Given the description of an element on the screen output the (x, y) to click on. 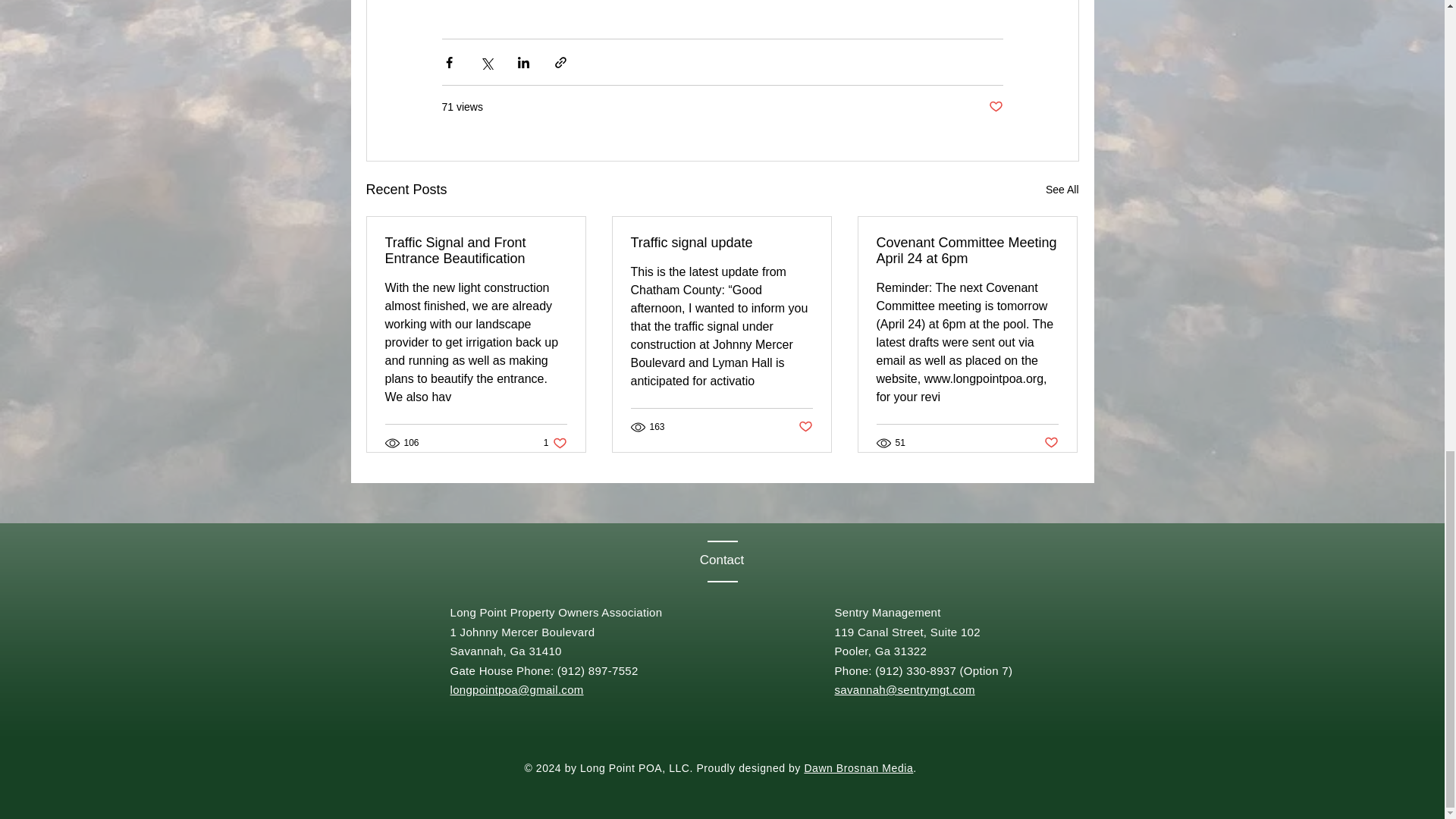
Traffic signal update (555, 441)
Traffic Signal and Front Entrance Beautification (721, 242)
Post not marked as liked (476, 250)
See All (1050, 442)
Post not marked as liked (1061, 189)
Post not marked as liked (804, 426)
Covenant Committee Meeting April 24 at 6pm (995, 107)
Dawn Brosnan Media (967, 250)
